Given the description of an element on the screen output the (x, y) to click on. 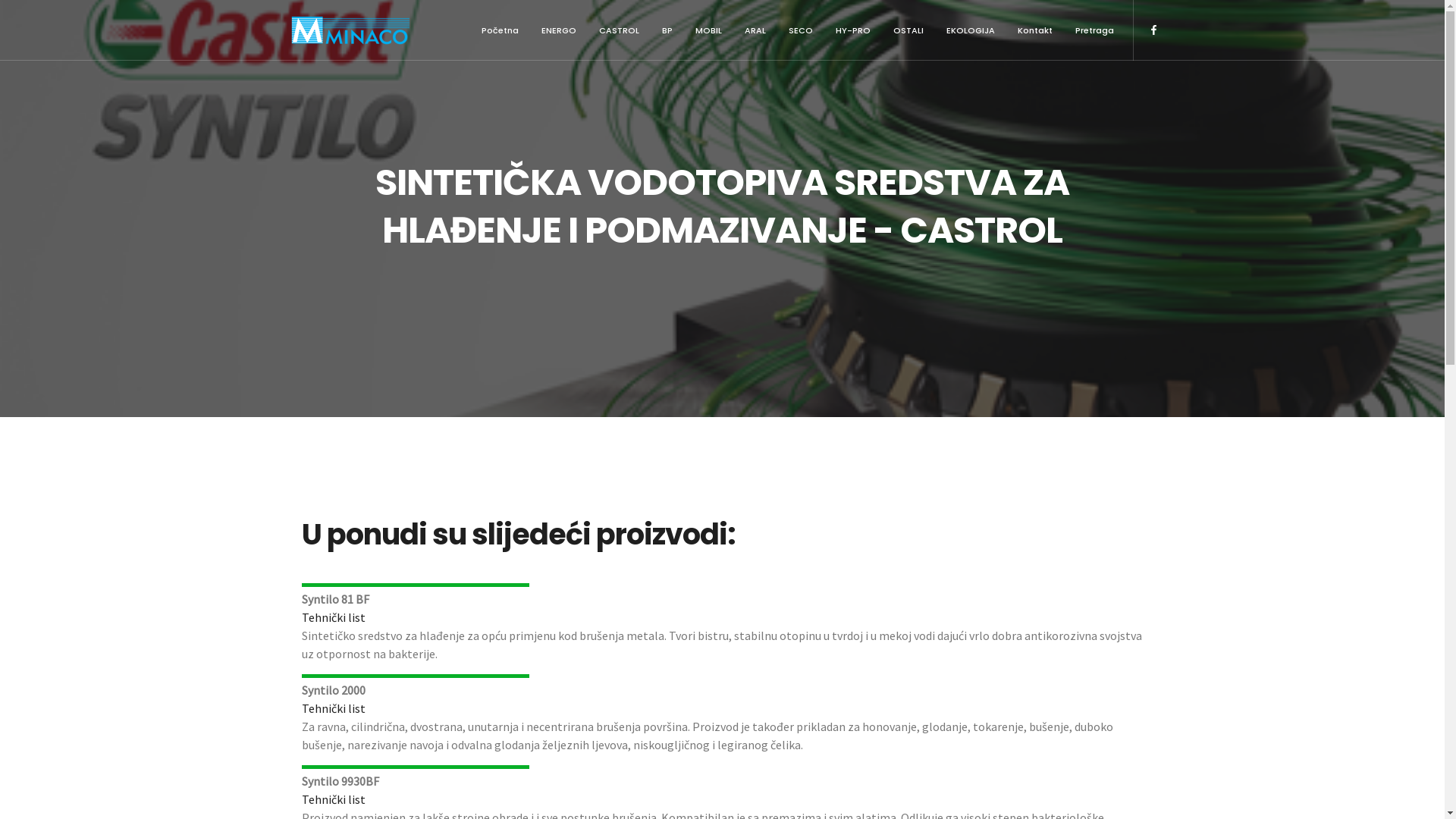
CASTROL Element type: text (617, 30)
SECO Element type: text (799, 30)
Kontakt Element type: text (1034, 30)
Vijesti Element type: text (525, 589)
BP Element type: text (667, 30)
ENERGO Element type: text (557, 30)
Pretraga Element type: text (1093, 30)
Certifikati Element type: text (535, 615)
EKOLOGIJA Element type: text (969, 30)
O nama Element type: text (528, 536)
ARAL Element type: text (754, 30)
OSTALI Element type: text (907, 30)
HY-PRO Element type: text (852, 30)
Kontakt Element type: text (530, 640)
MOBIL Element type: text (708, 30)
